Given the description of an element on the screen output the (x, y) to click on. 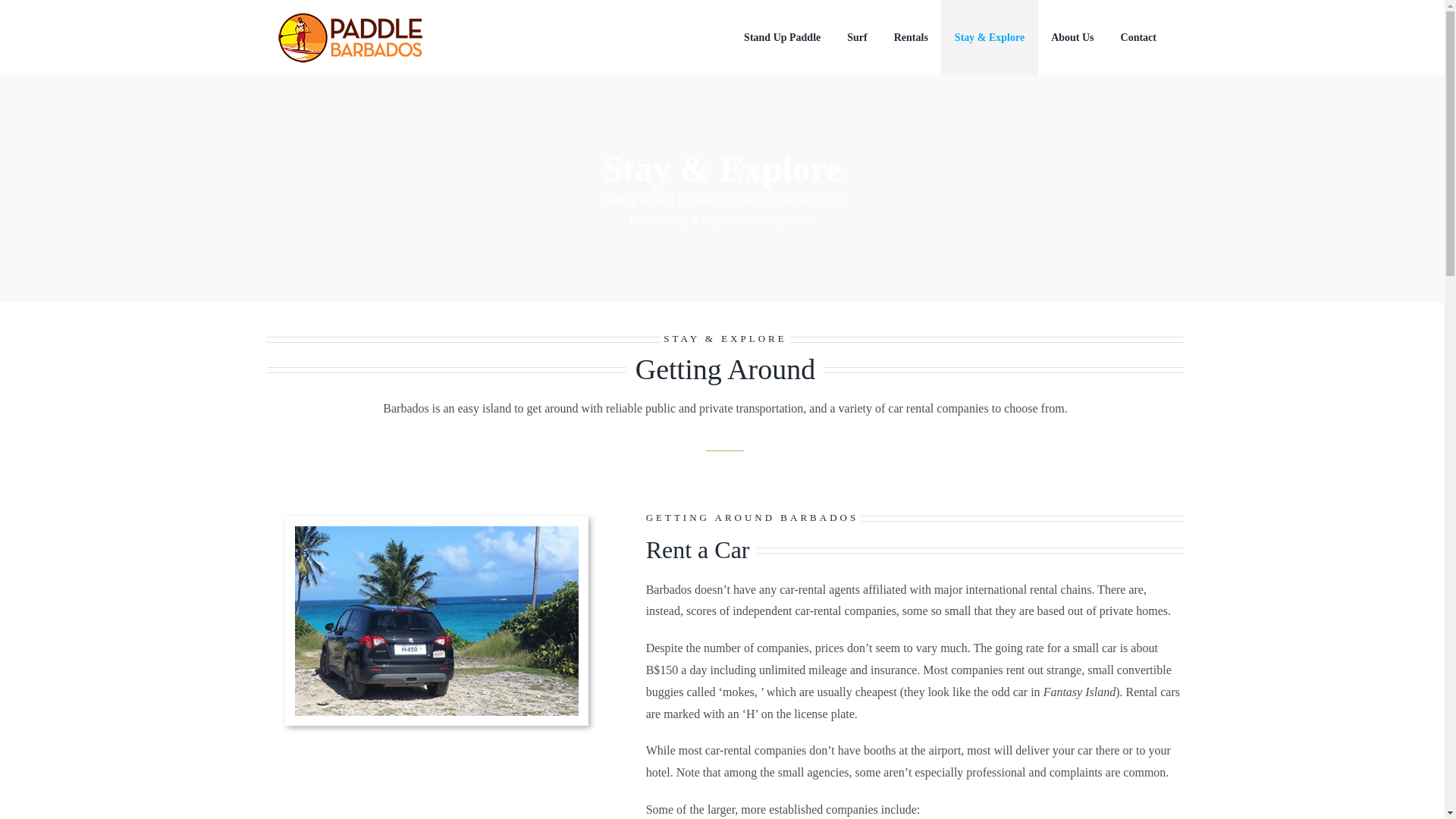
Rent a Car in Barbados (436, 620)
About Us (1072, 37)
Stand Up Paddle (782, 37)
